Given the description of an element on the screen output the (x, y) to click on. 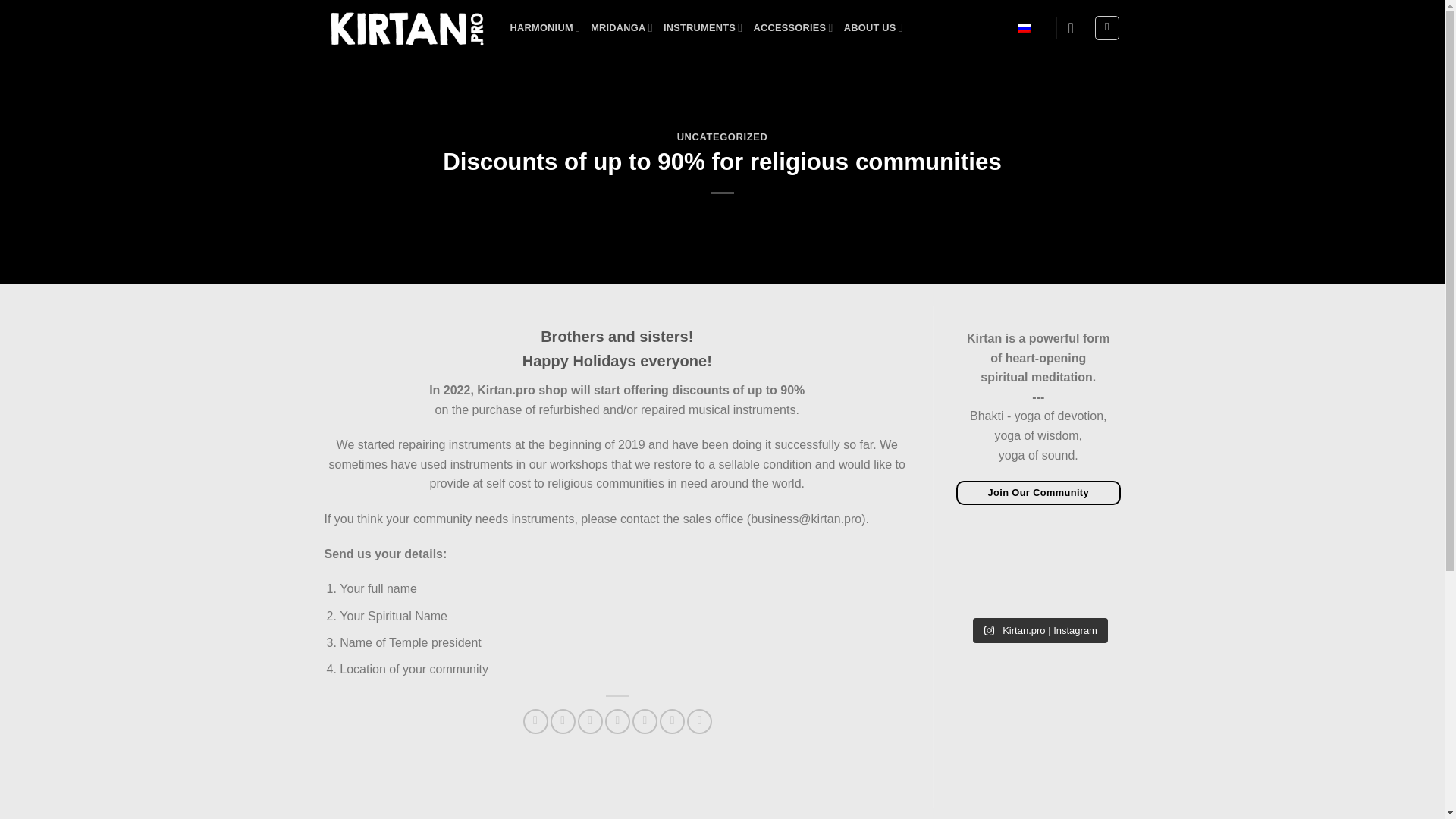
ACCESSORIES (792, 27)
INSTRUMENTS (702, 27)
Share on Telegram (699, 721)
Share on Facebook (535, 721)
Share on Tumblr (671, 721)
MRIDANGA (621, 27)
ABOUT US (873, 27)
Share on Twitter (562, 721)
Share on VKontakte (644, 721)
